Given the description of an element on the screen output the (x, y) to click on. 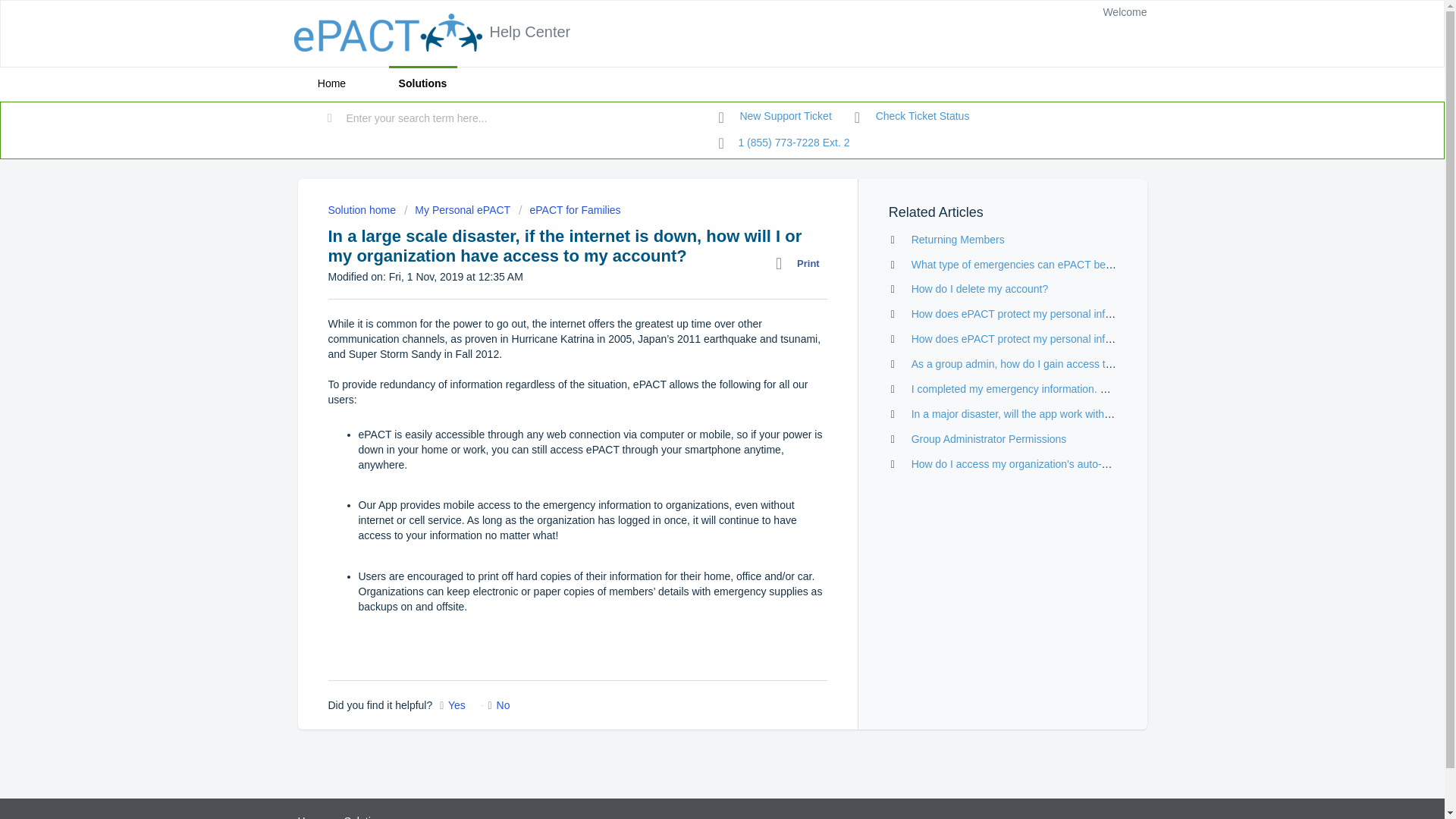
Solutions (422, 83)
How does ePACT protect my personal information? (1032, 338)
Home (310, 816)
My Personal ePACT (457, 209)
How do I access my organization's auto-archive? (1026, 463)
Group Administrator Permissions (989, 439)
New support ticket (775, 116)
How do I delete my account? (979, 288)
Print this Article (801, 263)
